Given the description of an element on the screen output the (x, y) to click on. 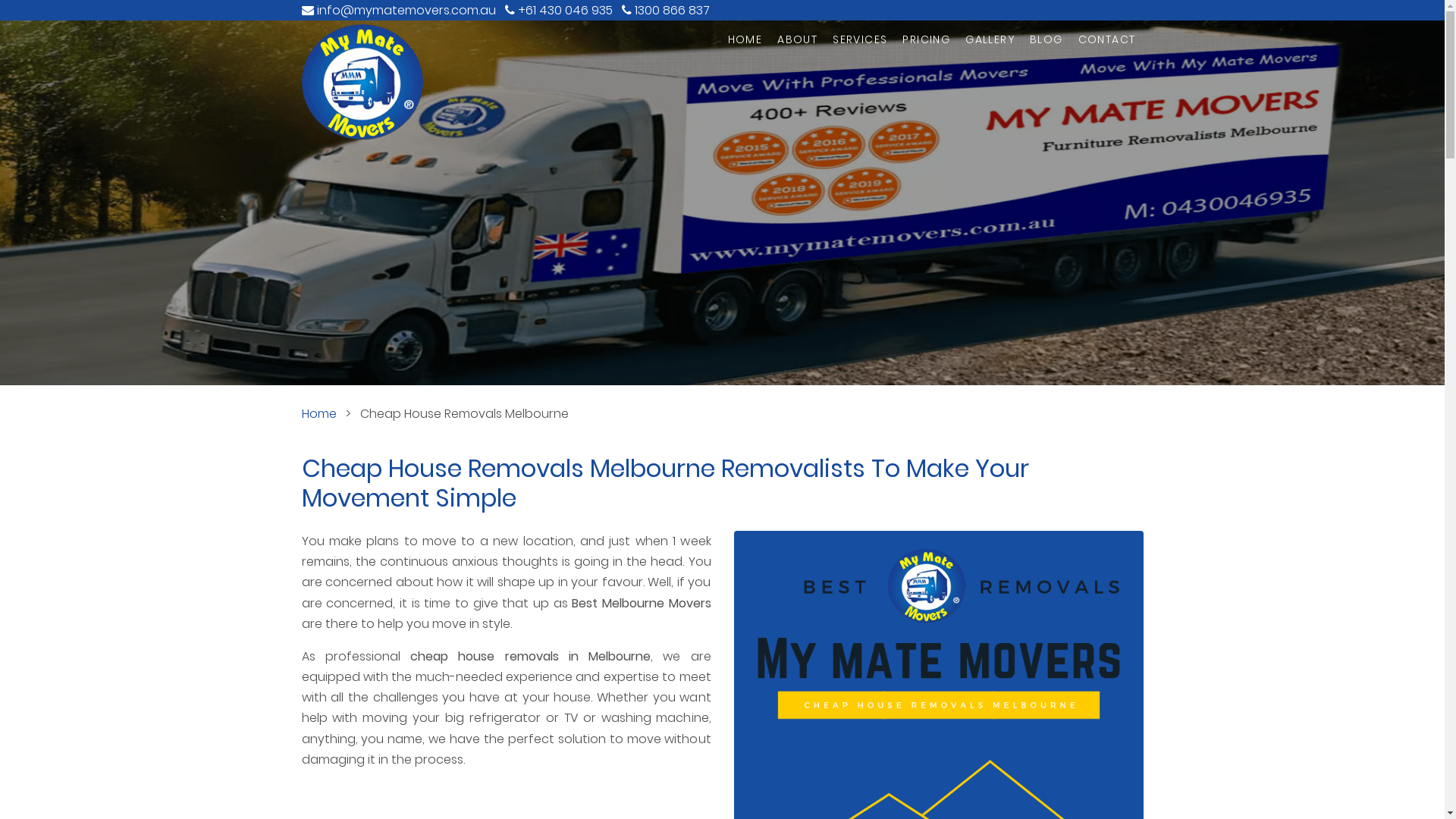
Home Element type: text (318, 413)
SERVICES Element type: text (859, 39)
GALLERY Element type: text (989, 39)
Go To Home Element type: hover (362, 81)
PRICING Element type: text (926, 39)
1300 866 837 Element type: text (671, 9)
HOME Element type: text (745, 39)
ABOUT Element type: text (797, 39)
+61 430 046 935 Element type: text (564, 9)
info@mymatemovers.com.au Element type: text (405, 9)
CONTACT Element type: text (1106, 39)
BLOG Element type: text (1046, 39)
